Given the description of an element on the screen output the (x, y) to click on. 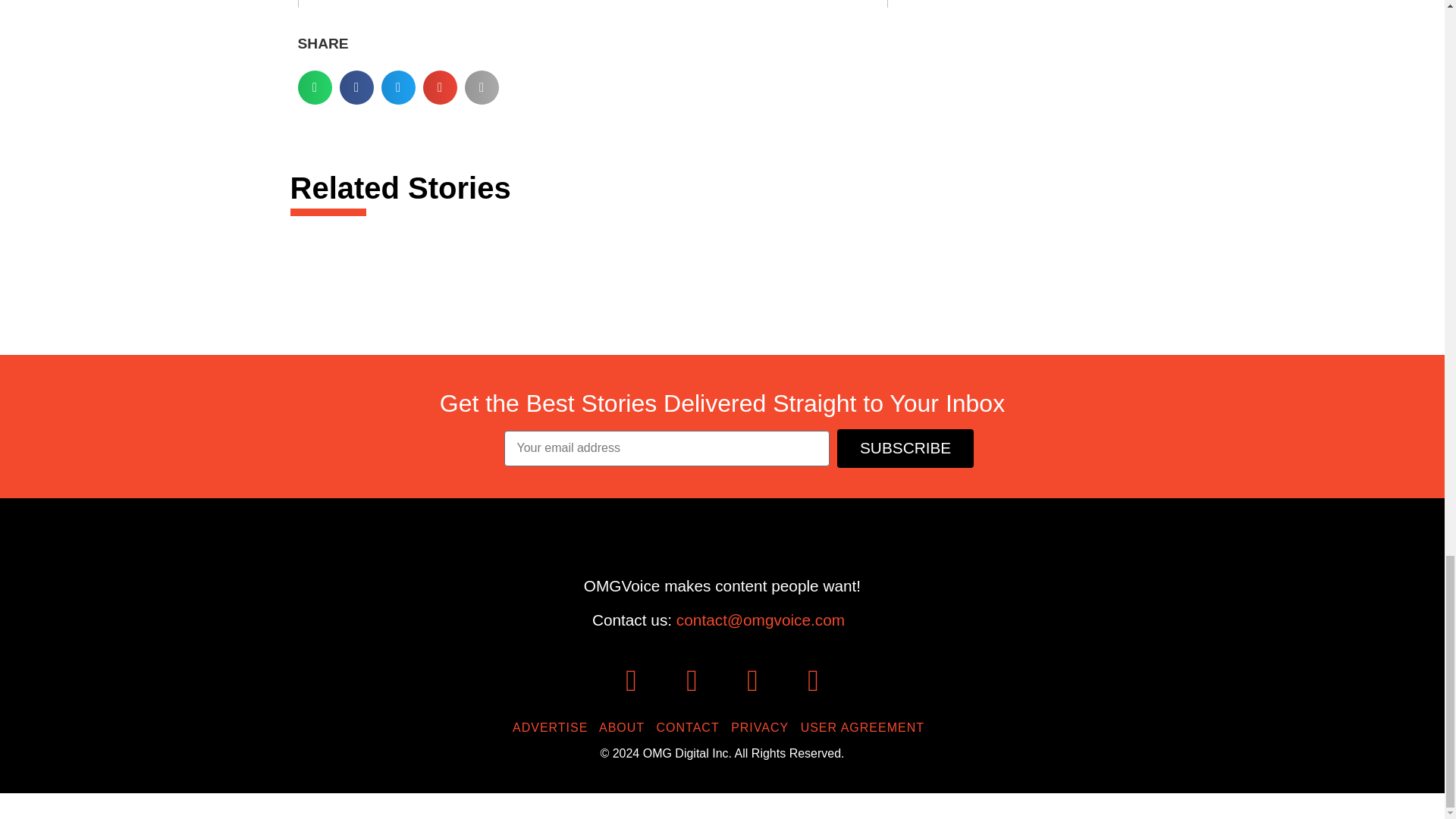
SUBSCRIBE (905, 448)
ADVERTISE (553, 727)
CONTACT (691, 727)
USER AGREEMENT (865, 727)
ABOUT (625, 727)
PRIVACY (763, 727)
